Given the description of an element on the screen output the (x, y) to click on. 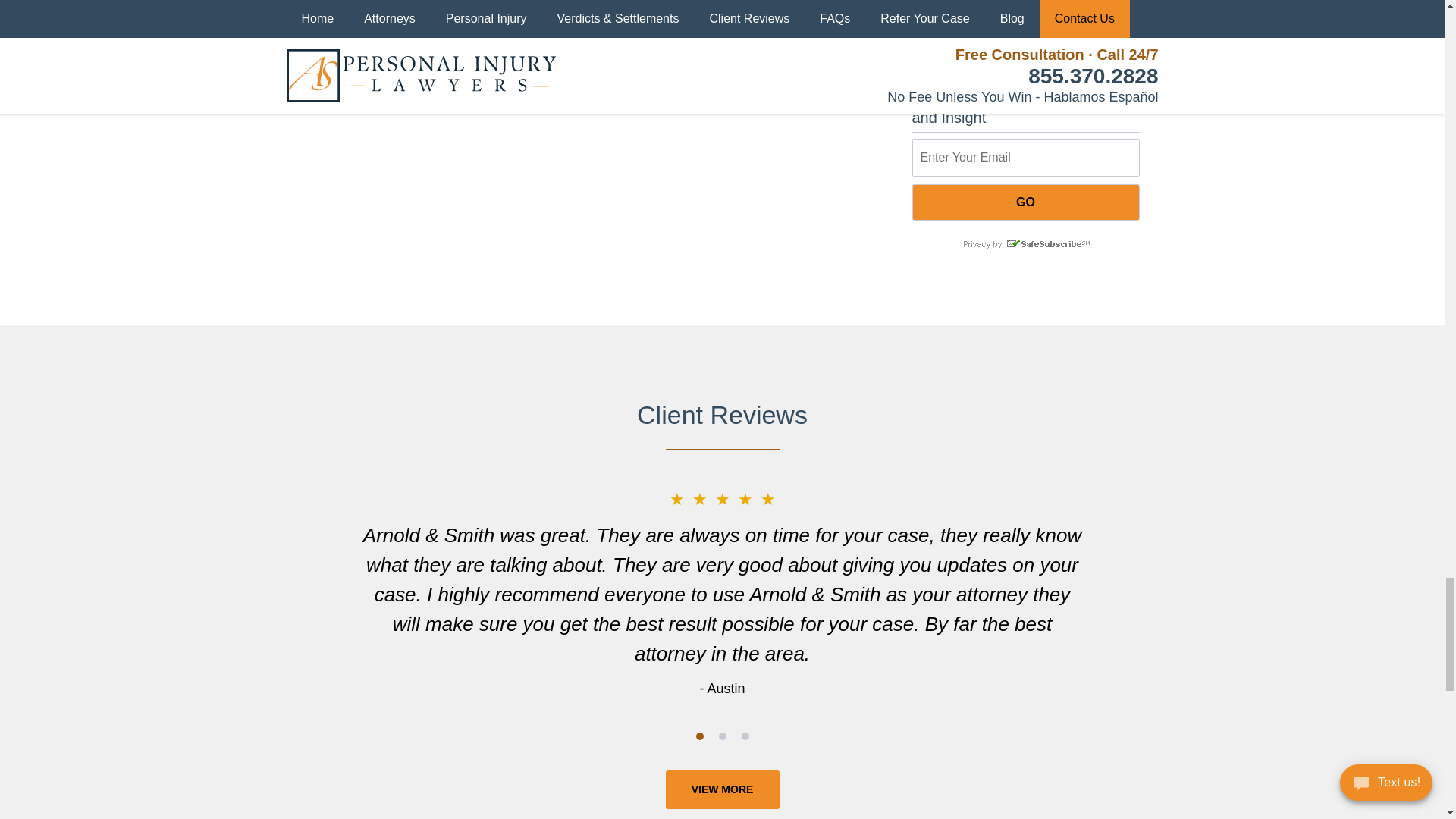
Go (1024, 202)
